Given the description of an element on the screen output the (x, y) to click on. 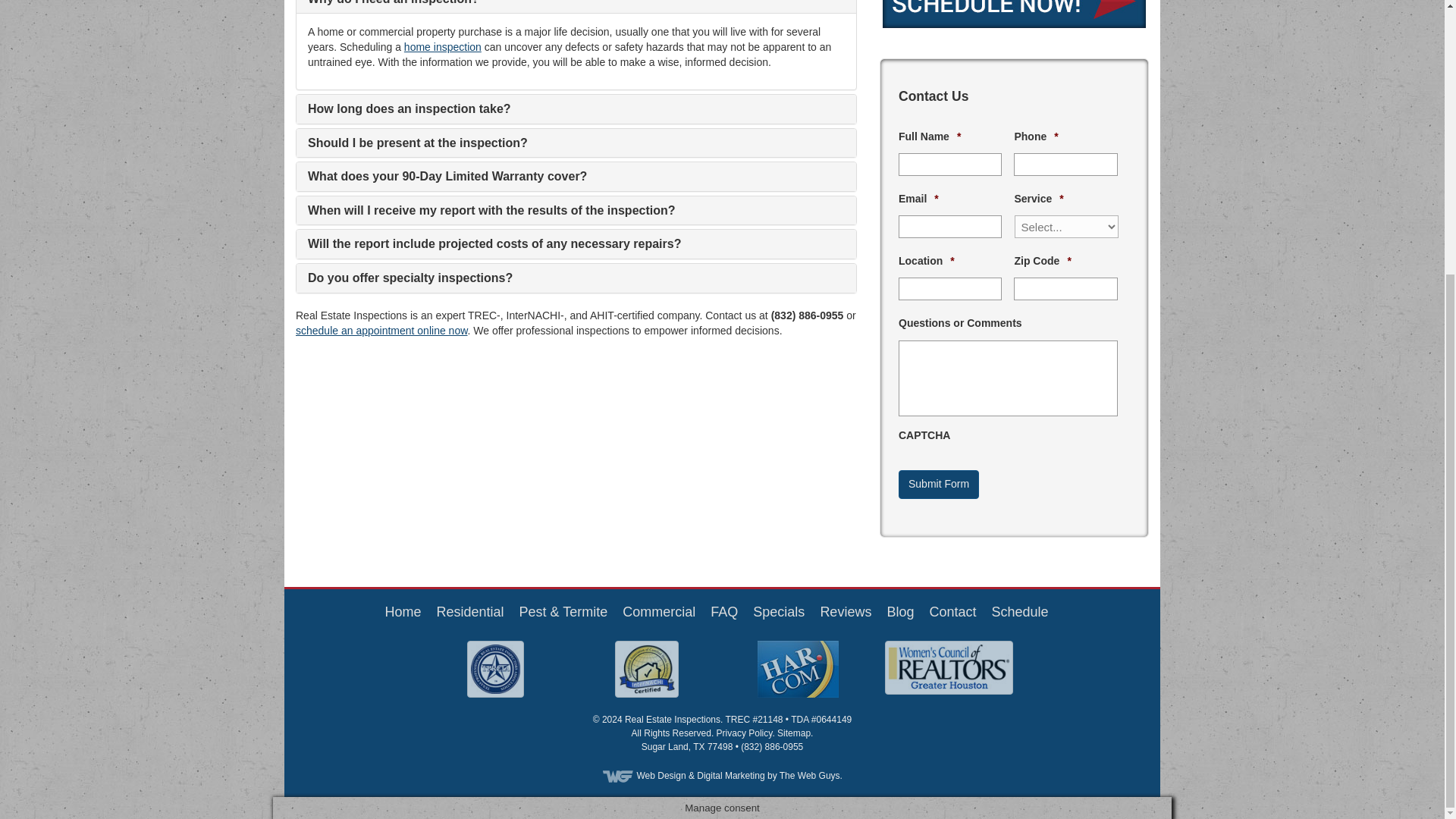
Our Blog (900, 611)
Schedule Inspection (1019, 611)
Home Inspections Houston TX (402, 611)
Specials (778, 611)
Submit Form (938, 484)
Reviews (844, 611)
Frequently Asked Questions (724, 611)
Building Inspectors (659, 611)
Termite Inspection (563, 611)
Home Inspection (469, 611)
Contact Us (951, 611)
